Given the description of an element on the screen output the (x, y) to click on. 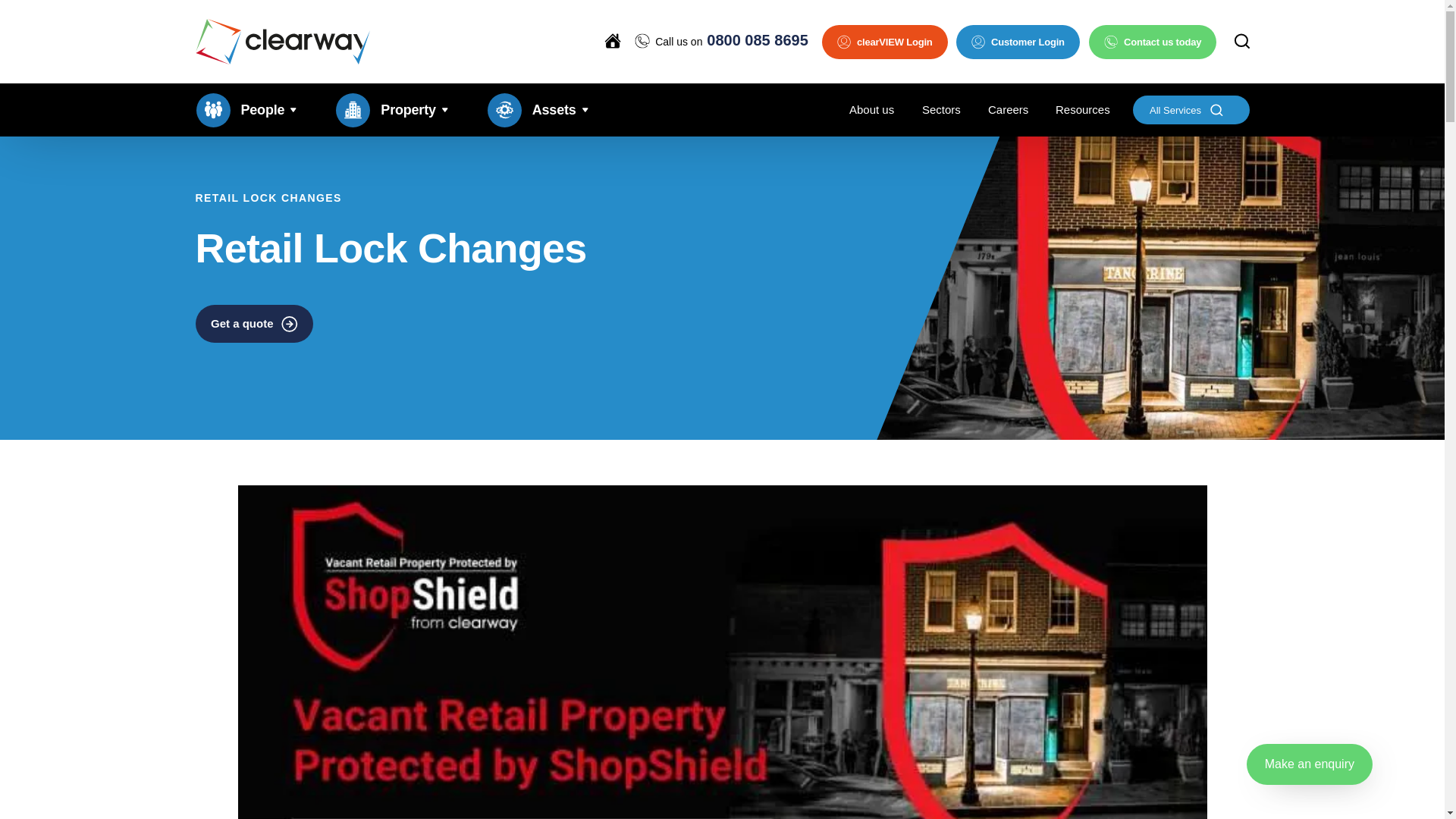
Sectors (940, 109)
0800 085 8695 (757, 39)
Contact us today (1152, 41)
clearVIEW Login (884, 41)
All Services (1191, 109)
Customer Login (1018, 41)
Resources (1082, 109)
Careers (1007, 109)
People (246, 109)
About us (870, 109)
Property (391, 109)
Assets (537, 109)
